Given the description of an element on the screen output the (x, y) to click on. 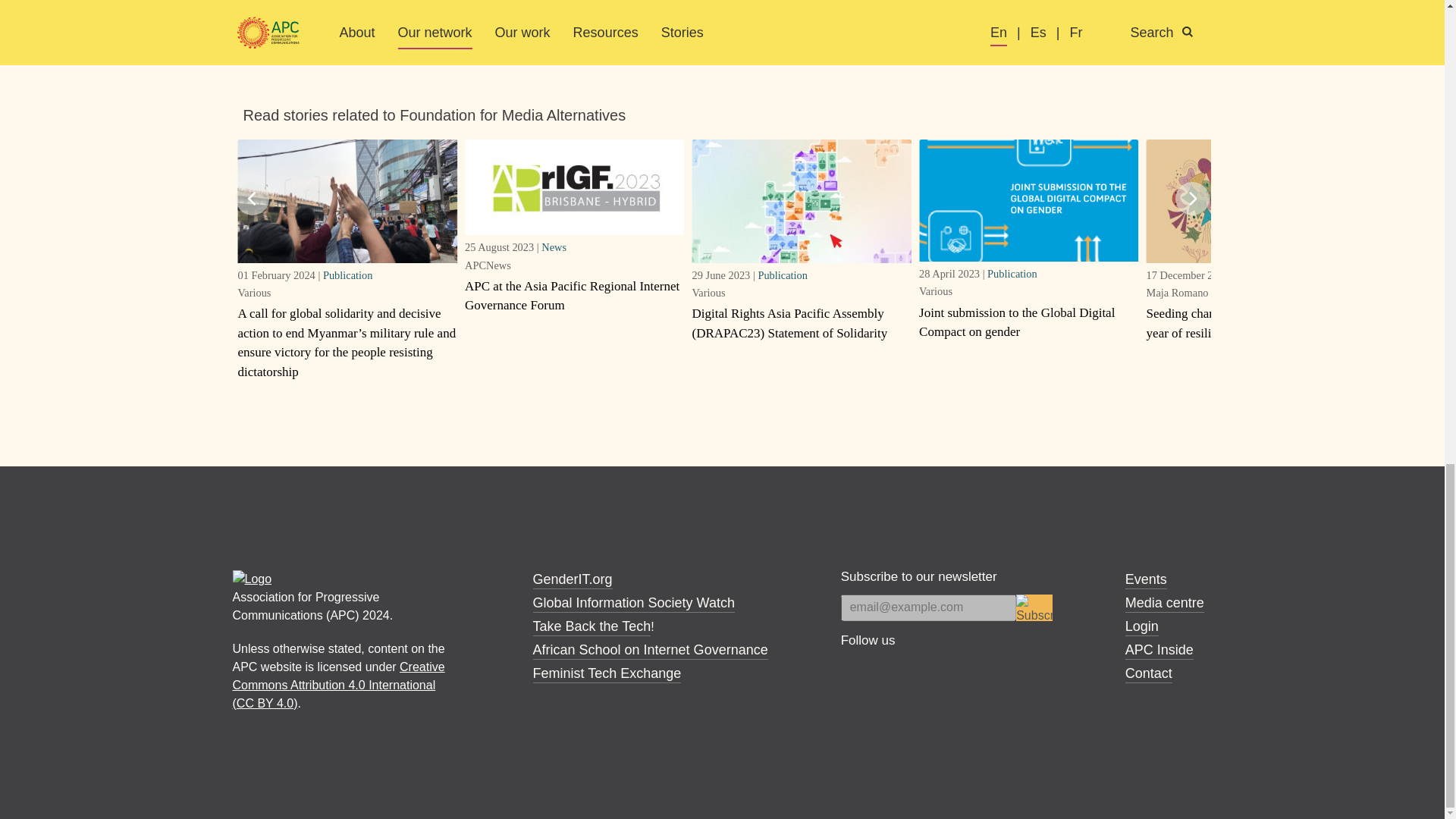
Saturday, December 17, 2022 - 02:40 (1188, 275)
Friday, April 28, 2023 - 16:00 (948, 273)
Friday, August 25, 2023 - 12:52 (499, 246)
Thursday, February 1, 2024 - 14:05 (275, 275)
Internet rights (282, 0)
Privacy (264, 20)
Photo: Maung Sun, used under CC BY-SA 4.0 licence (347, 200)
Thursday, June 29, 2023 - 18:31 (722, 275)
